Given the description of an element on the screen output the (x, y) to click on. 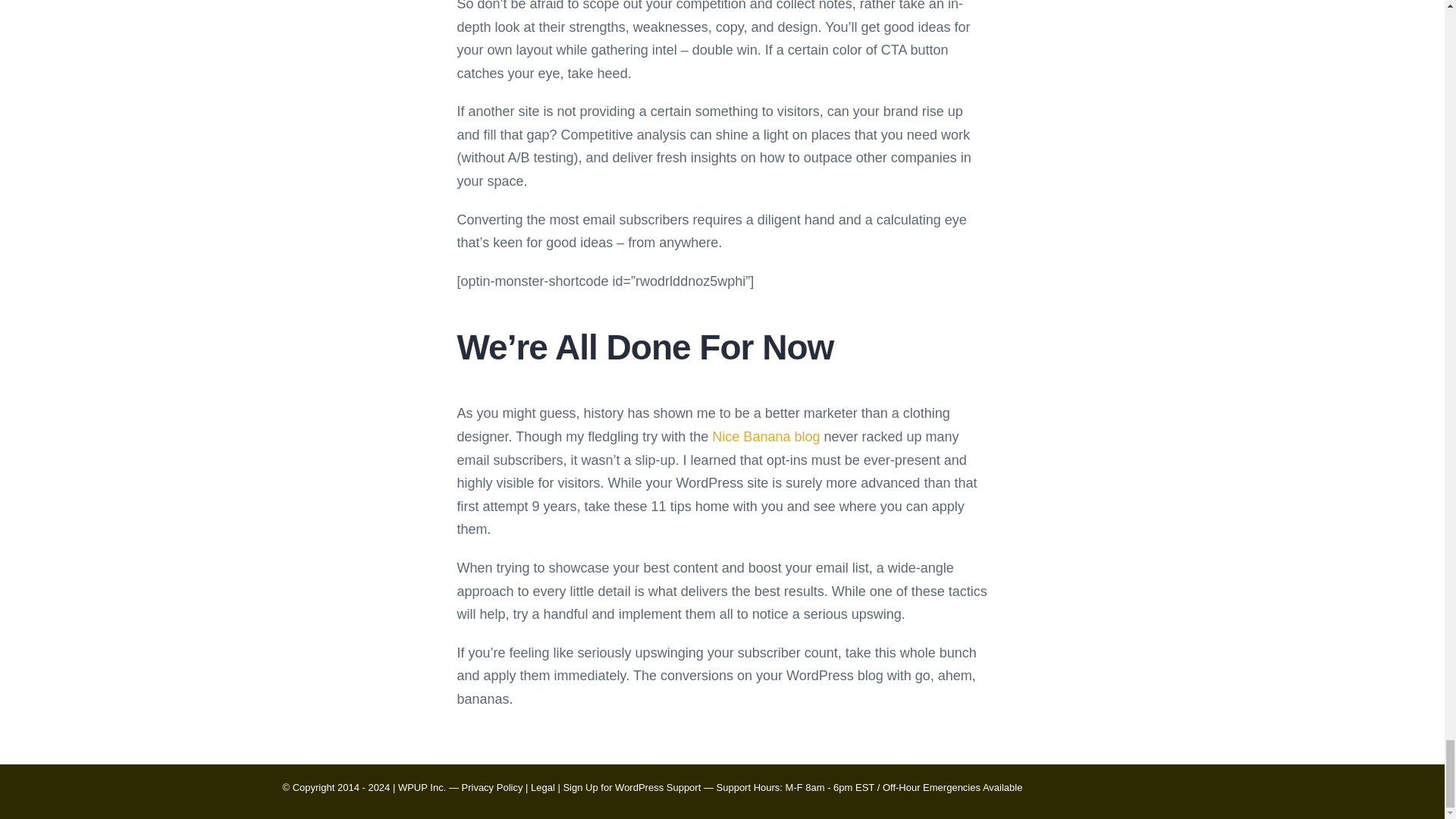
Legal (542, 787)
Sign Up for WordPress Support (631, 787)
Nice Banana blog (765, 436)
Privacy Policy (491, 787)
